Given the description of an element on the screen output the (x, y) to click on. 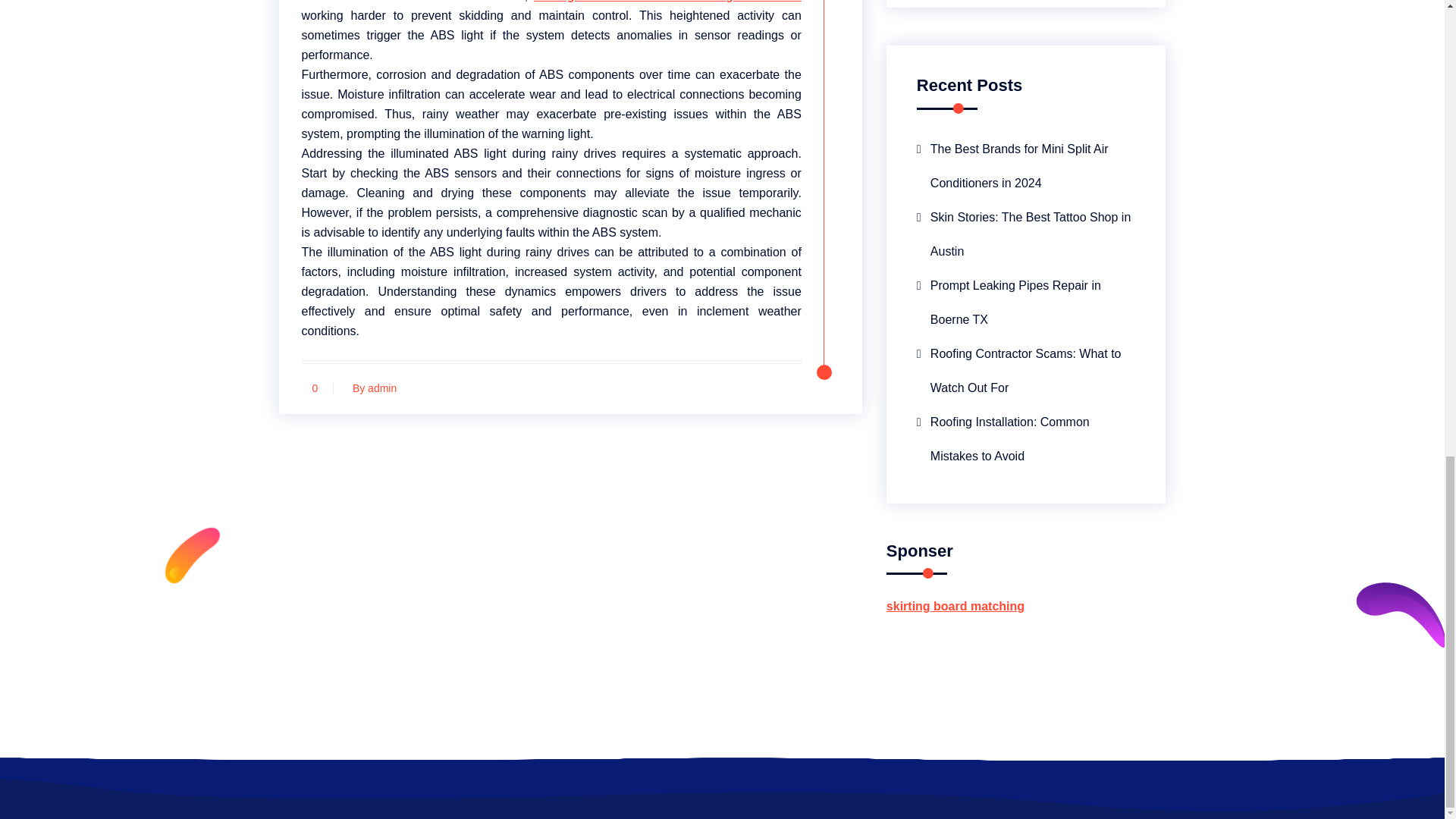
0 (315, 387)
The Best Brands for Mini Split Air Conditioners in 2024 (1026, 165)
Roofing Contractor Scams: What to Watch Out For (1026, 370)
Skin Stories: The Best Tattoo Shop in Austin (1026, 233)
skirting board matching (955, 605)
Roofing Installation: Common Mistakes to Avoid (1026, 438)
Prompt Leaking Pipes Repair in Boerne TX (1026, 302)
By admin (370, 387)
